Given the description of an element on the screen output the (x, y) to click on. 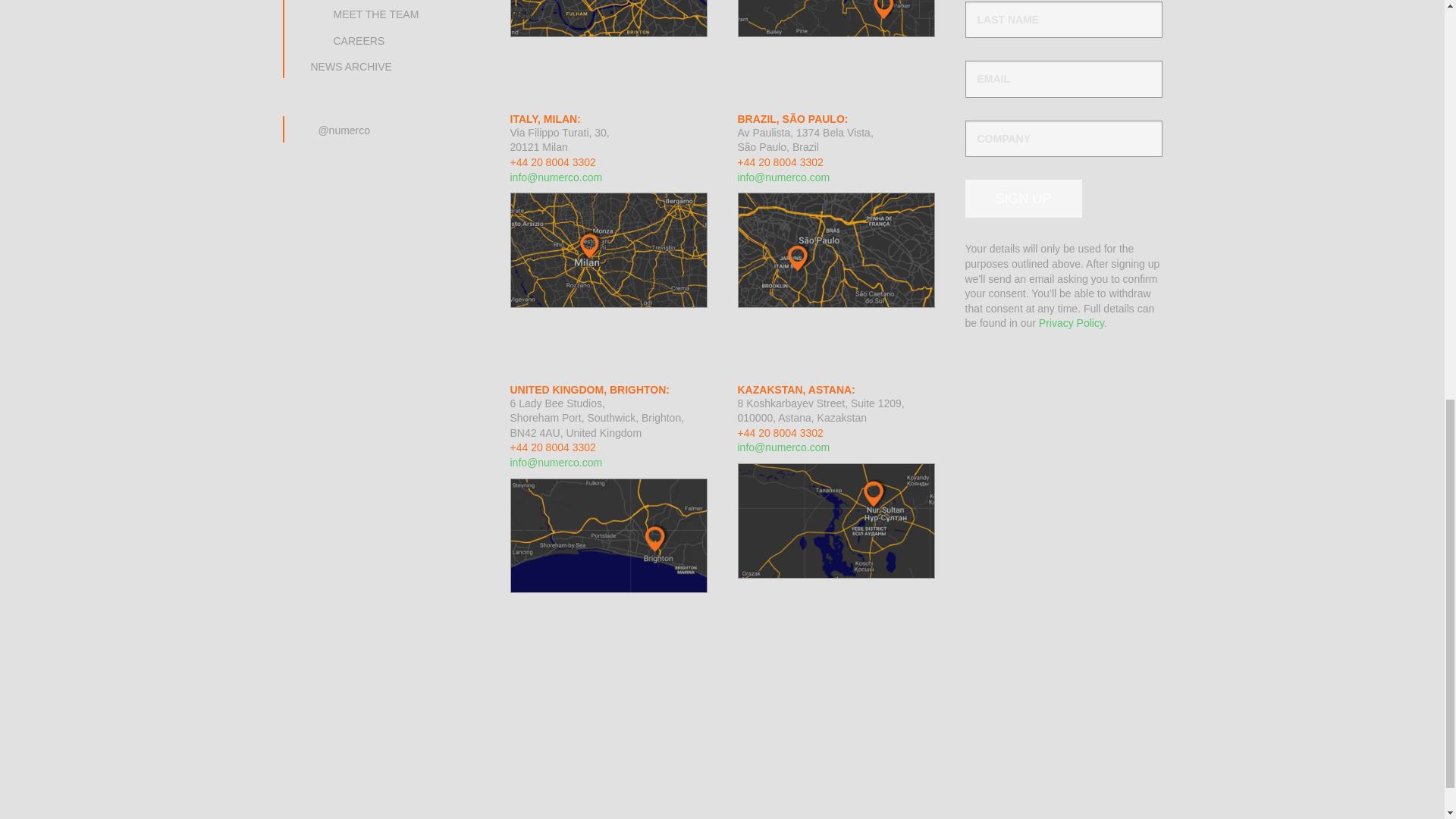
Sign up (1022, 198)
Sign up (1022, 198)
Privacy Policy (1071, 322)
